Given the description of an element on the screen output the (x, y) to click on. 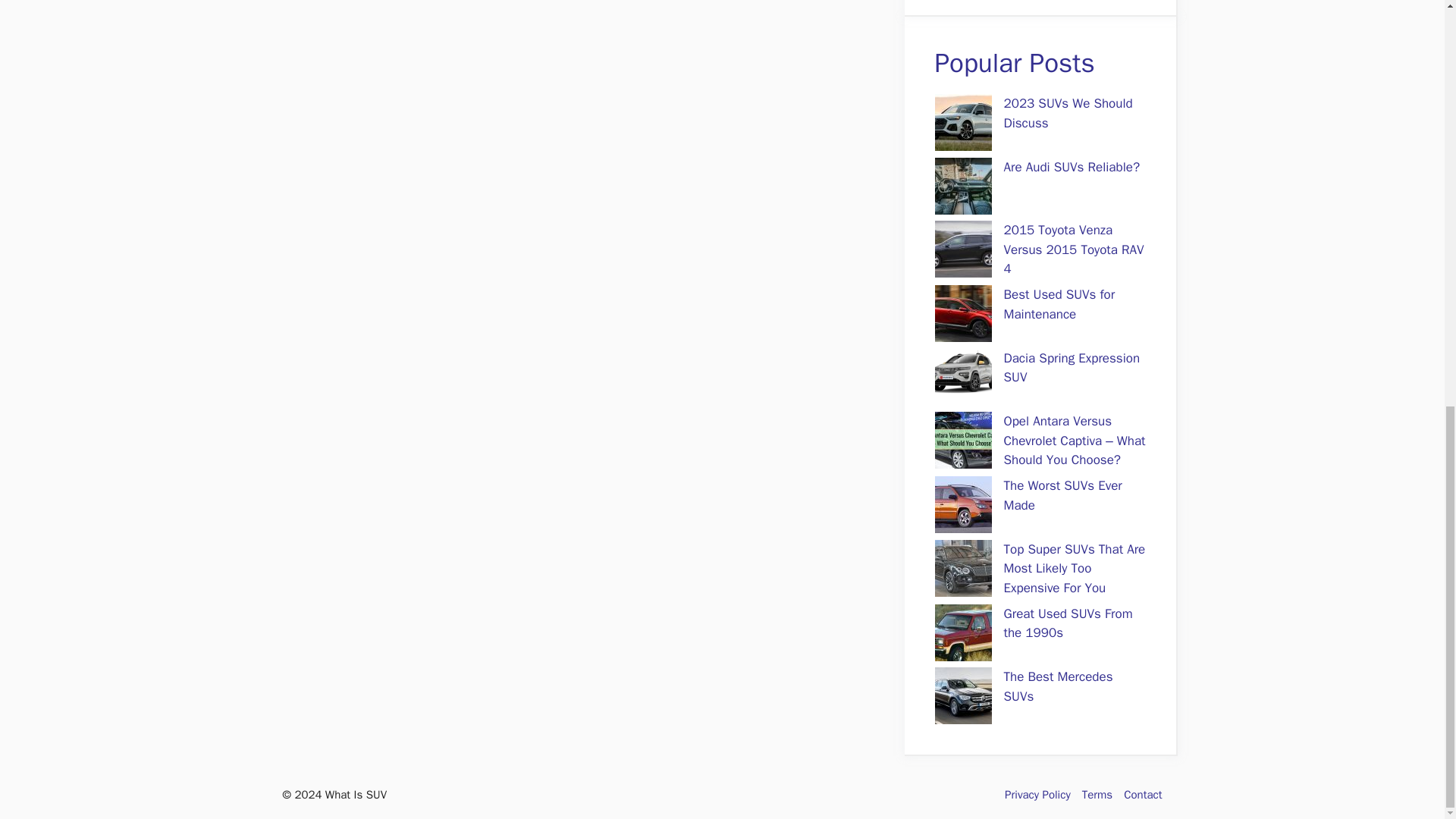
Are Audi SUVs Reliable? (1072, 166)
2023 SUVs We Should Discuss (1068, 113)
Great Used SUVs From the 1990s (1068, 623)
The Worst SUVs Ever Made (1063, 495)
2015 Toyota Venza Versus 2015 Toyota RAV 4 (1074, 248)
Best Used SUVs for Maintenance (1059, 304)
Dacia Spring Expression SUV (1072, 367)
Top Super SUVs That Are Most Likely Too Expensive For You (1074, 568)
